Given the description of an element on the screen output the (x, y) to click on. 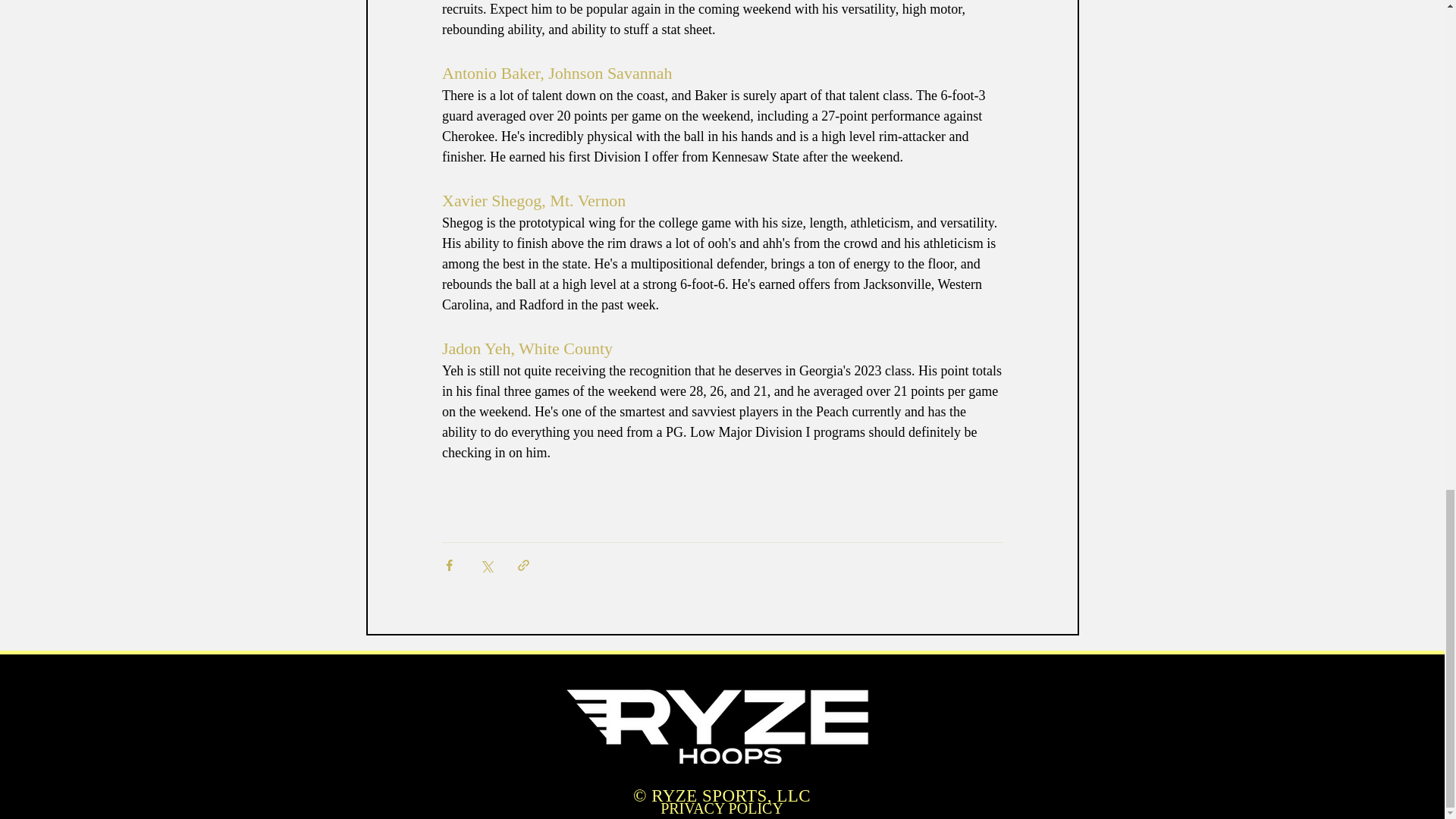
PRIVACY POLICY (722, 808)
